Given the description of an element on the screen output the (x, y) to click on. 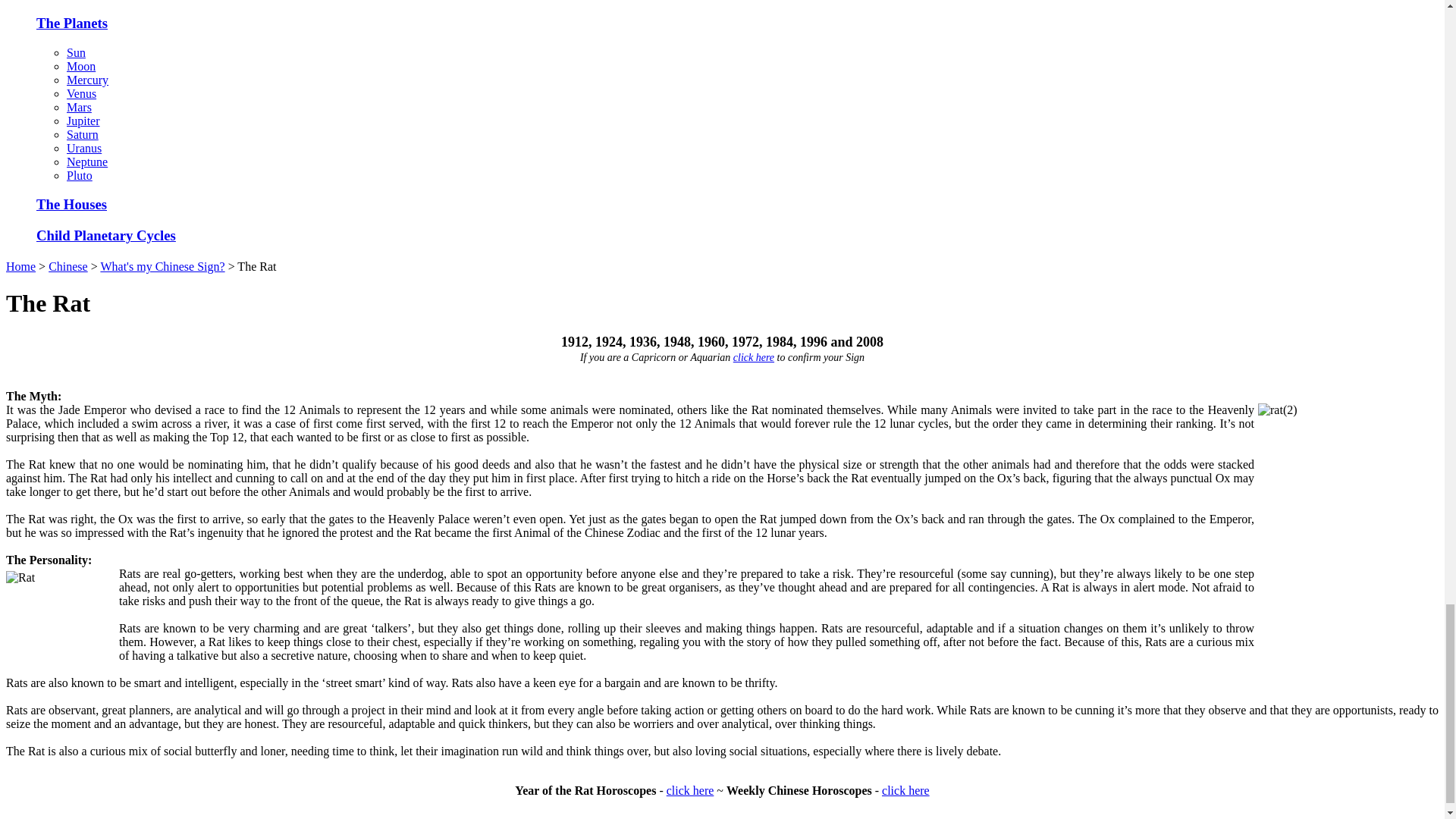
Rat (60, 610)
